Given the description of an element on the screen output the (x, y) to click on. 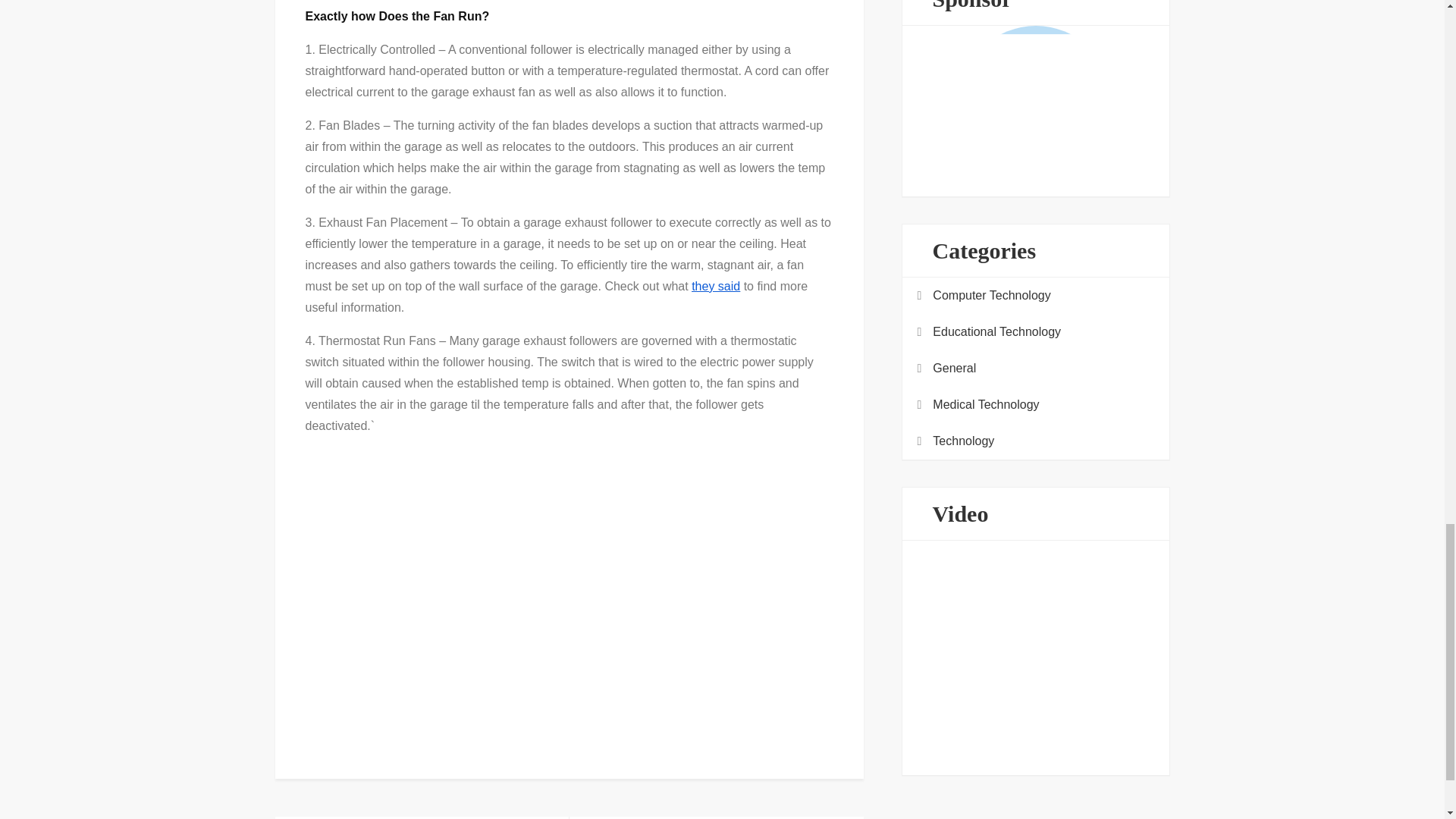
Medical Technology (986, 404)
Computer Technology (991, 295)
they said (715, 286)
General (954, 368)
Educational Technology (997, 332)
